Given the description of an element on the screen output the (x, y) to click on. 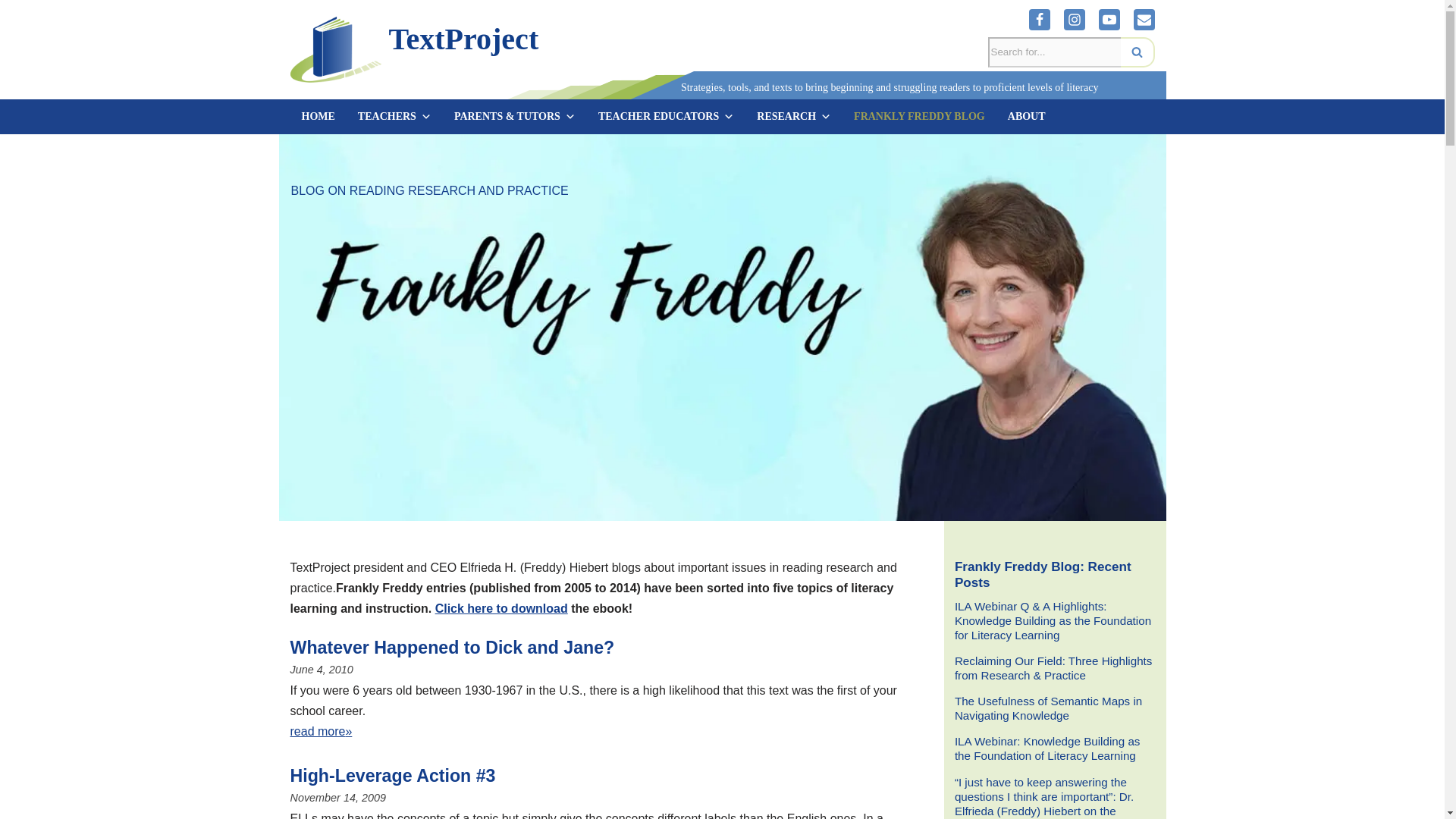
Instagram (1073, 19)
Skip to content (11, 31)
HOME (317, 116)
TEACHERS (394, 116)
Youtube (1108, 19)
Facebook (1038, 19)
Email (1143, 19)
